Given the description of an element on the screen output the (x, y) to click on. 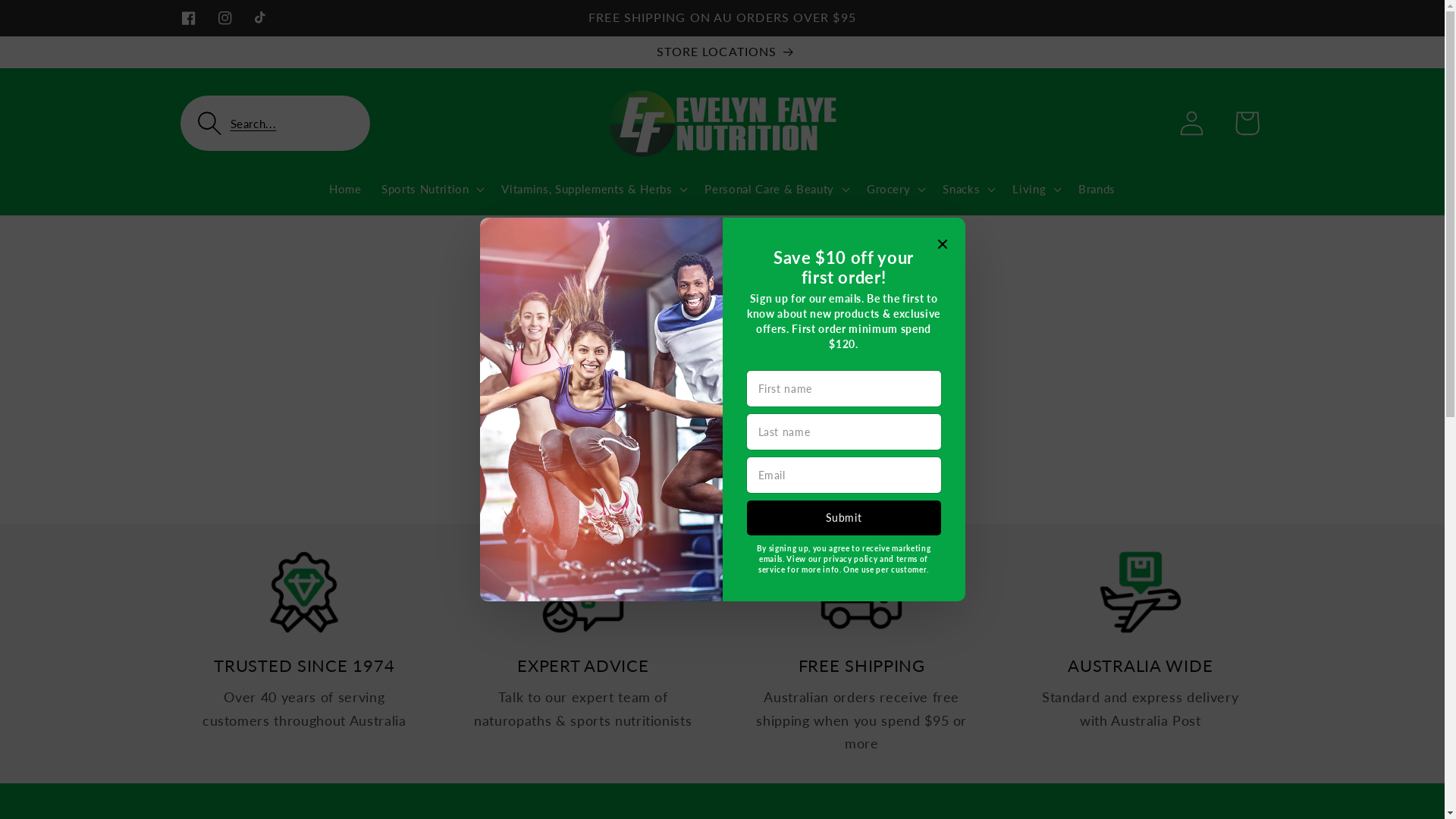
Instagram Element type: text (225, 18)
Facebook Element type: text (187, 18)
Home Element type: text (345, 188)
TikTok Element type: text (261, 18)
Brands Element type: text (1096, 188)
Continue shopping Element type: text (722, 446)
Log in Element type: text (1192, 122)
Cart Element type: text (1246, 122)
